Given the description of an element on the screen output the (x, y) to click on. 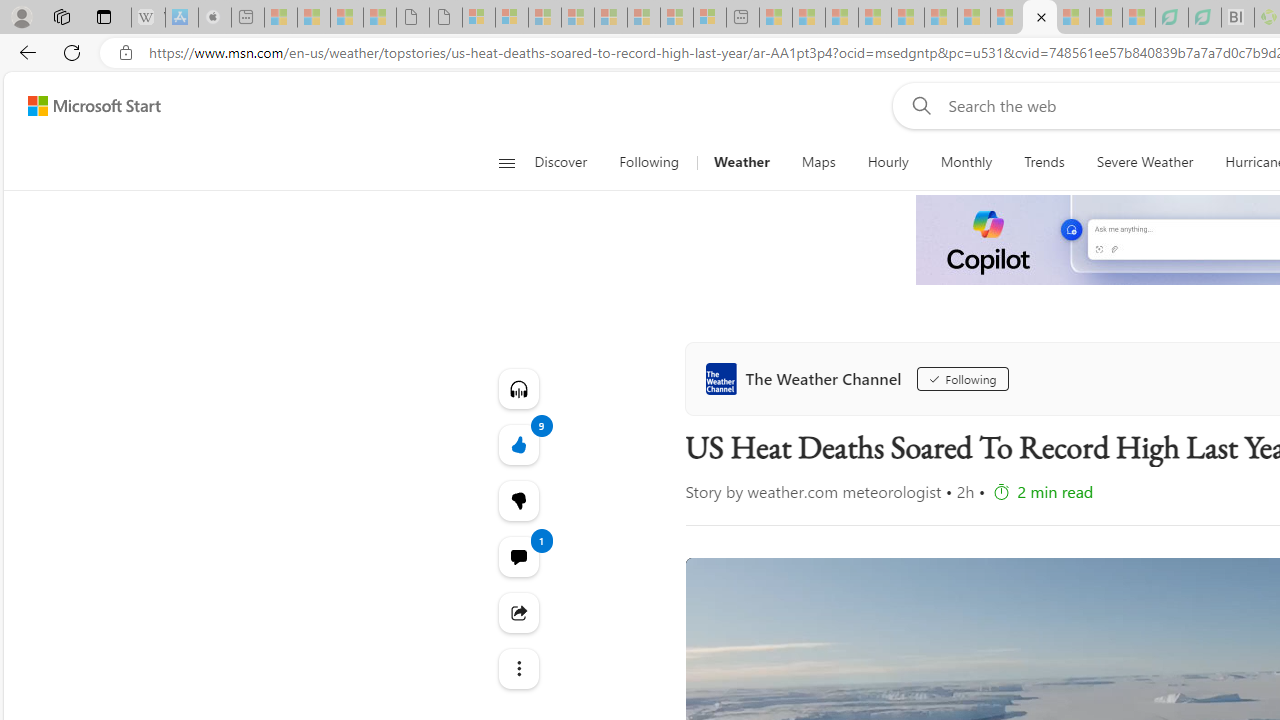
Microsoft account | Account Checkup - Sleeping (709, 17)
Sign in to your Microsoft account - Sleeping (479, 17)
The Weather Channel (807, 378)
Weather (741, 162)
Buy iPad - Apple - Sleeping (214, 17)
New tab - Sleeping (743, 17)
Severe Weather (1144, 162)
Top Stories - MSN - Sleeping (776, 17)
